Given the description of an element on the screen output the (x, y) to click on. 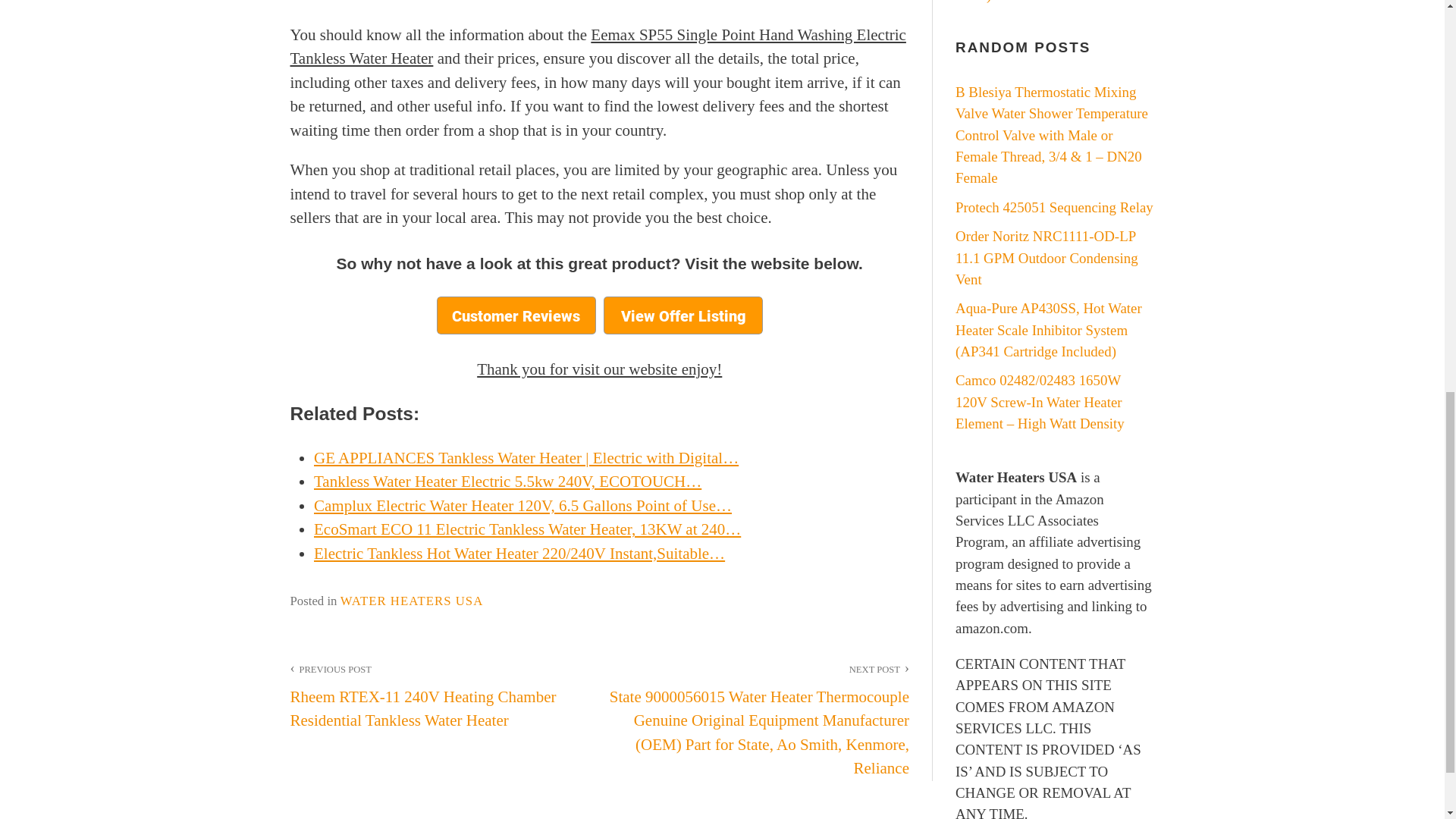
WATER HEATERS USA (411, 600)
Order Noritz NRC1111-OD-LP 11.1 GPM Outdoor Condensing Vent (1046, 257)
Protech 425051 Sequencing Relay (1054, 207)
